Given the description of an element on the screen output the (x, y) to click on. 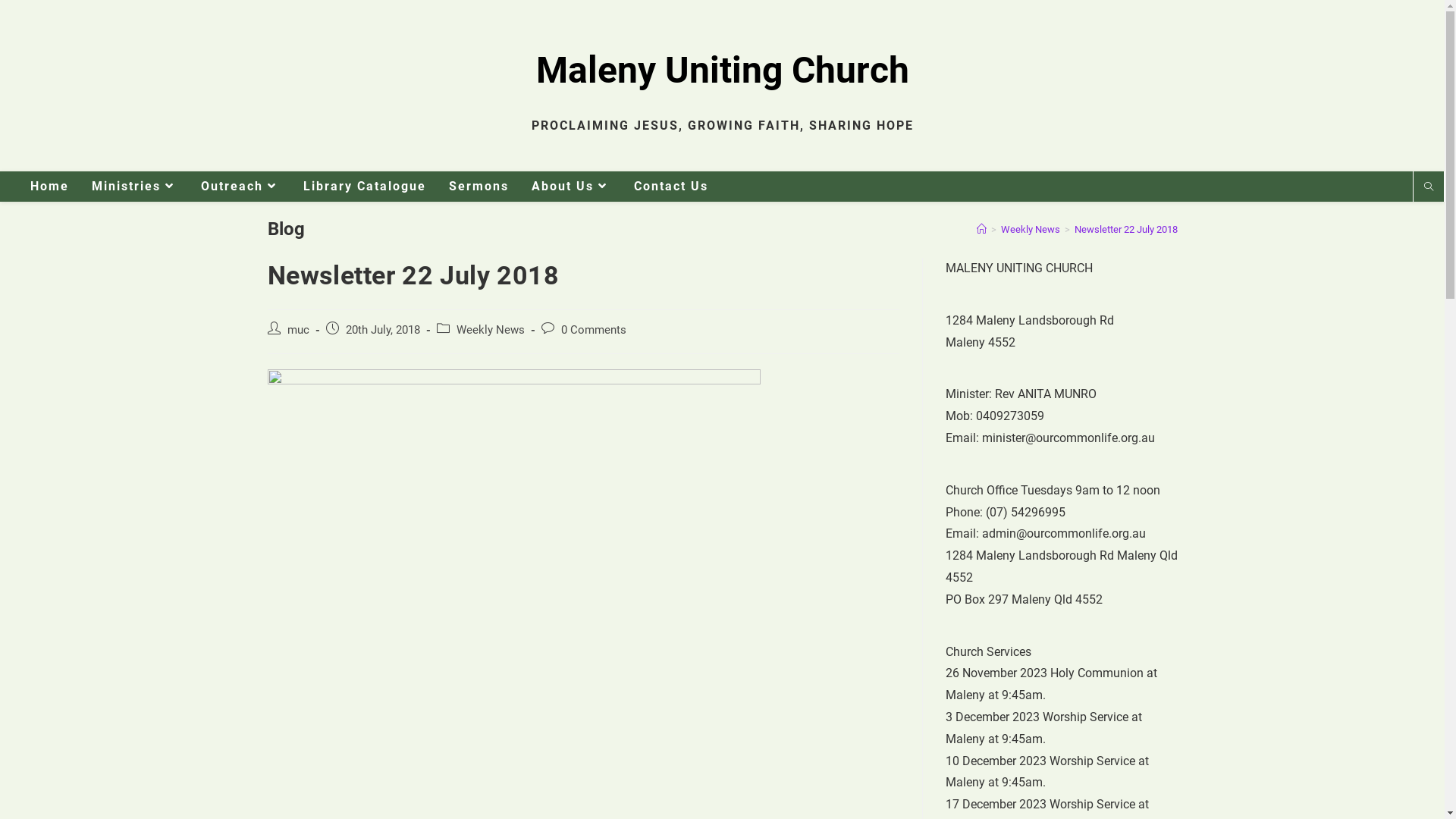
0 Comments Element type: text (593, 329)
About Us Element type: text (571, 186)
Home Element type: text (49, 186)
Weekly News Element type: text (1030, 229)
Outreach Element type: text (240, 186)
Maleny Uniting Church Element type: text (721, 69)
Library Catalogue Element type: text (364, 186)
Contact Us Element type: text (670, 186)
Weekly News Element type: text (490, 329)
Newsletter 22 July 2018 Element type: text (1124, 229)
muc Element type: text (297, 329)
Sermons Element type: text (478, 186)
Ministries Element type: text (134, 186)
